Given the description of an element on the screen output the (x, y) to click on. 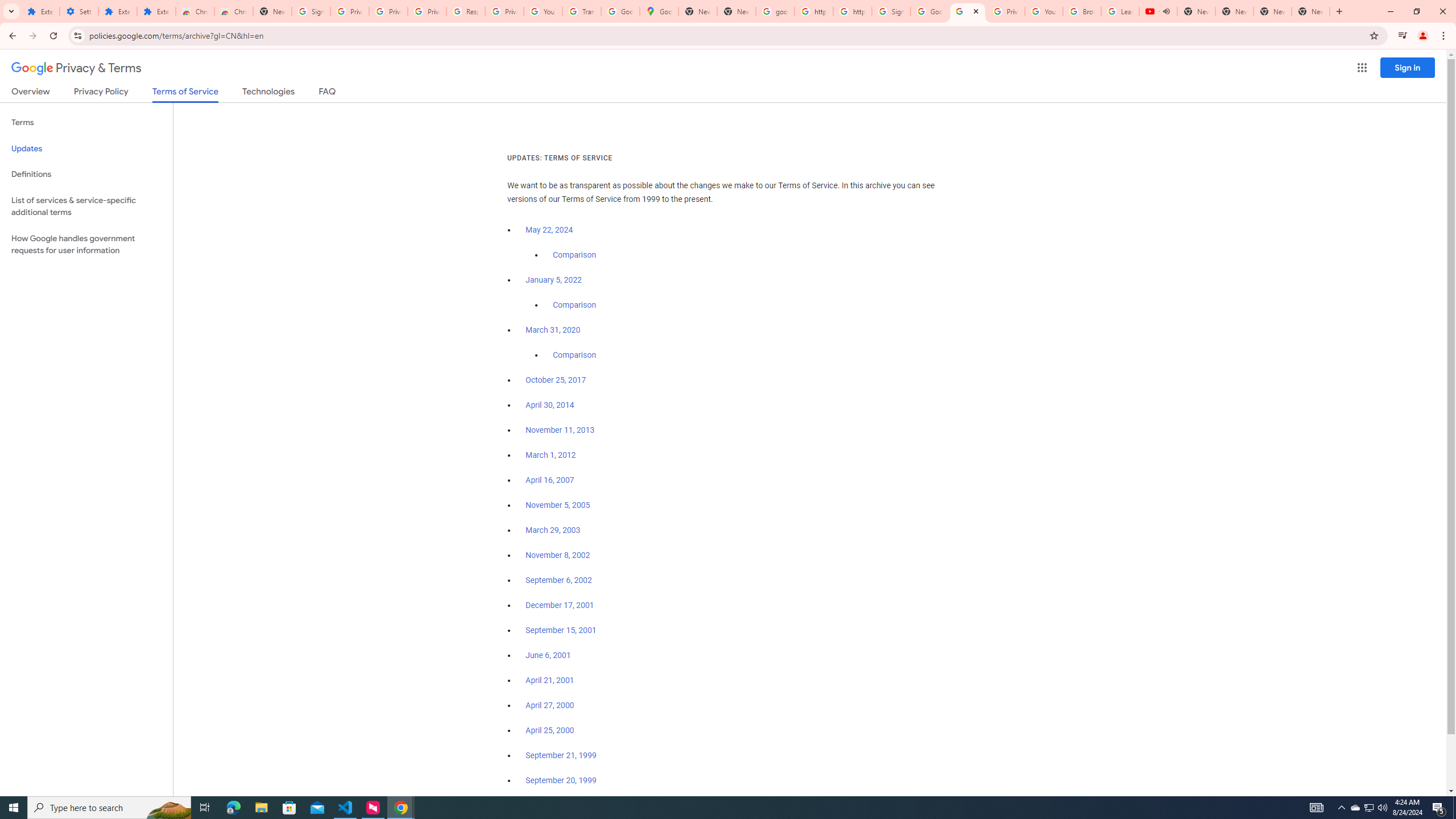
Chrome Web Store - Themes (233, 11)
January 5, 2022 (553, 280)
Terms of Service (184, 94)
March 31, 2020 (552, 330)
November 8, 2002 (557, 555)
September 20, 1999 (560, 780)
April 30, 2014 (550, 405)
September 15, 2001 (560, 629)
YouTube (1043, 11)
